Given the description of an element on the screen output the (x, y) to click on. 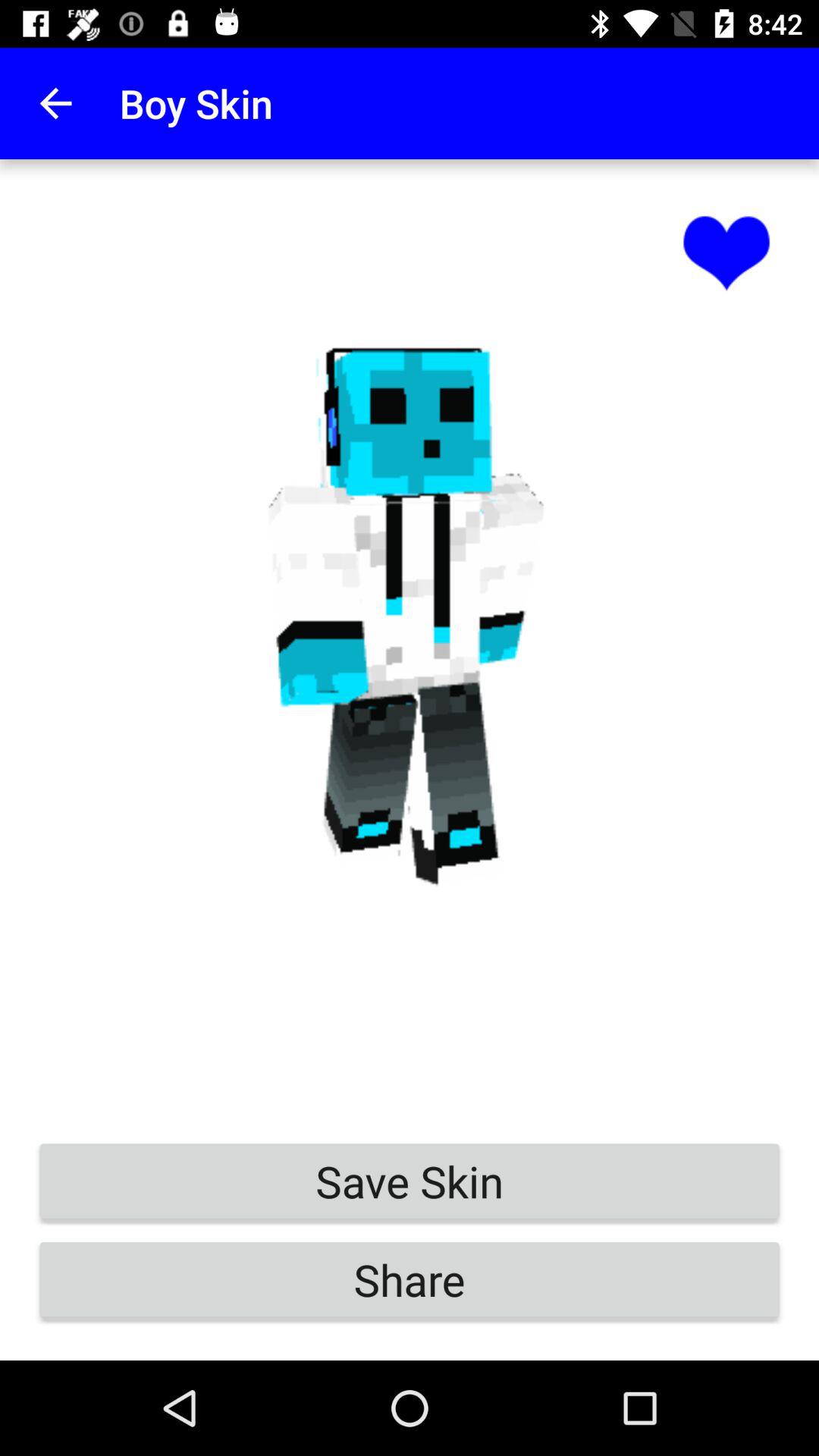
favorite (726, 250)
